Given the description of an element on the screen output the (x, y) to click on. 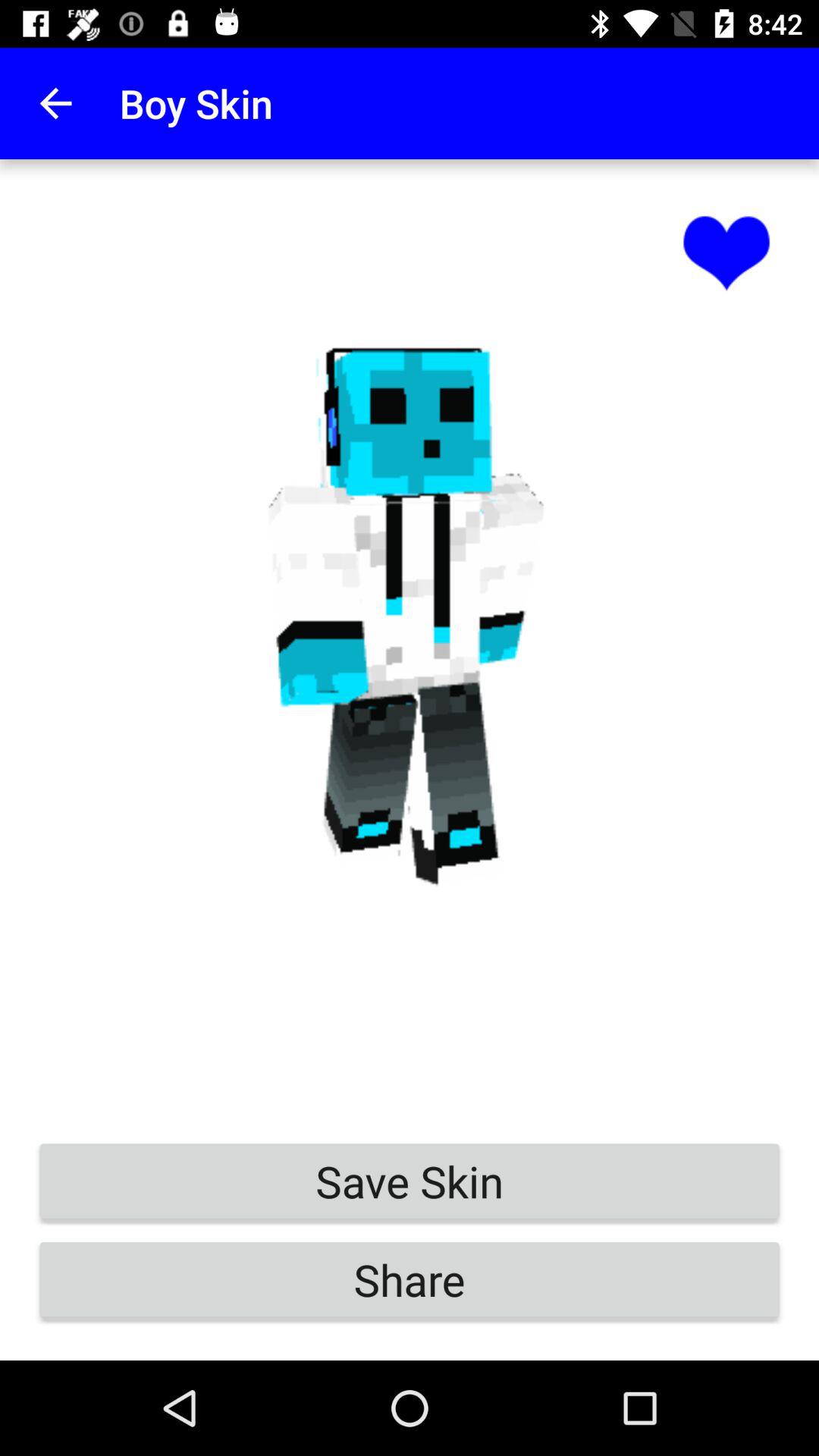
favorite (726, 250)
